Given the description of an element on the screen output the (x, y) to click on. 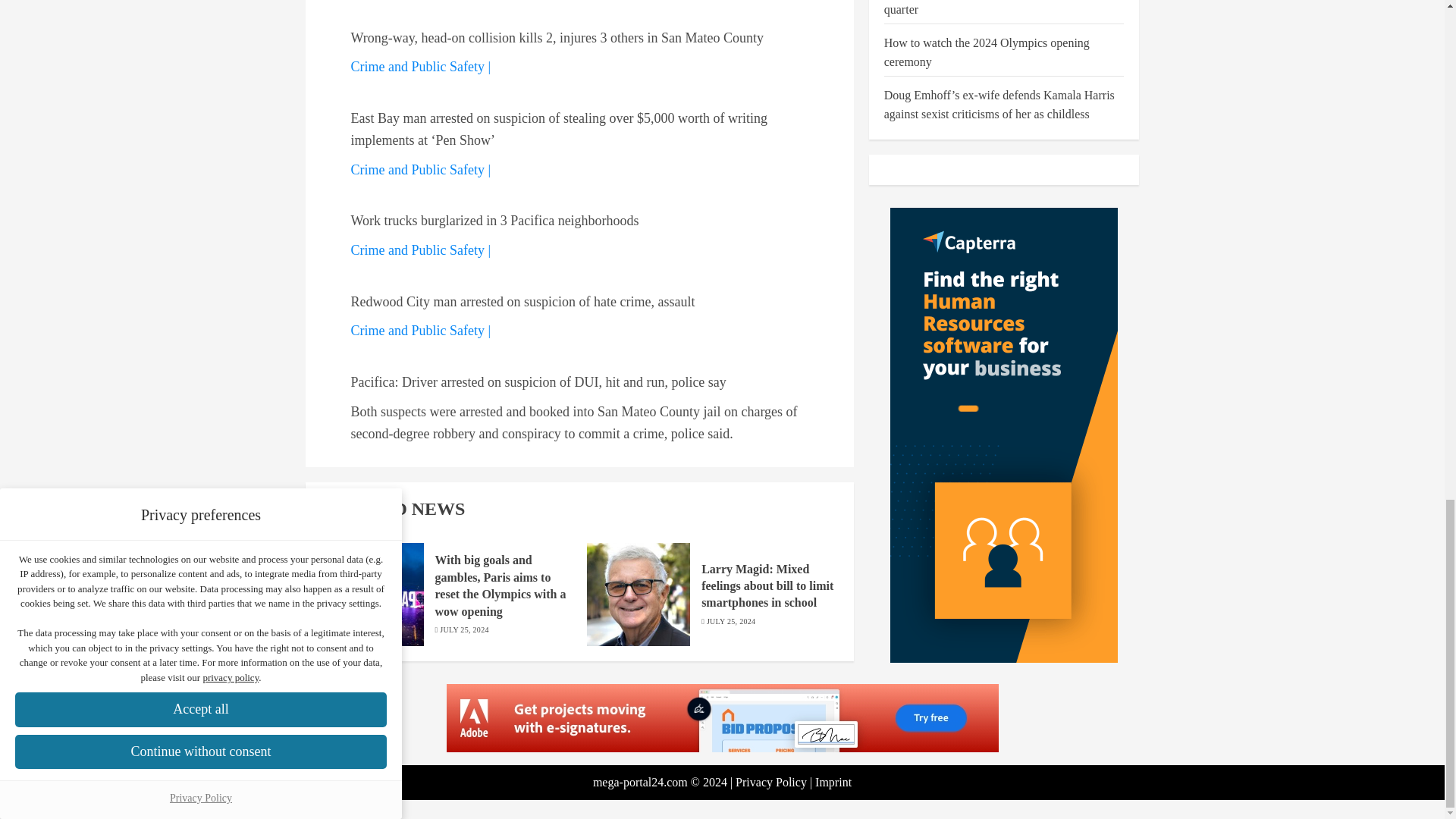
JULY 25, 2024 (730, 621)
JULY 25, 2024 (463, 629)
